Given the description of an element on the screen output the (x, y) to click on. 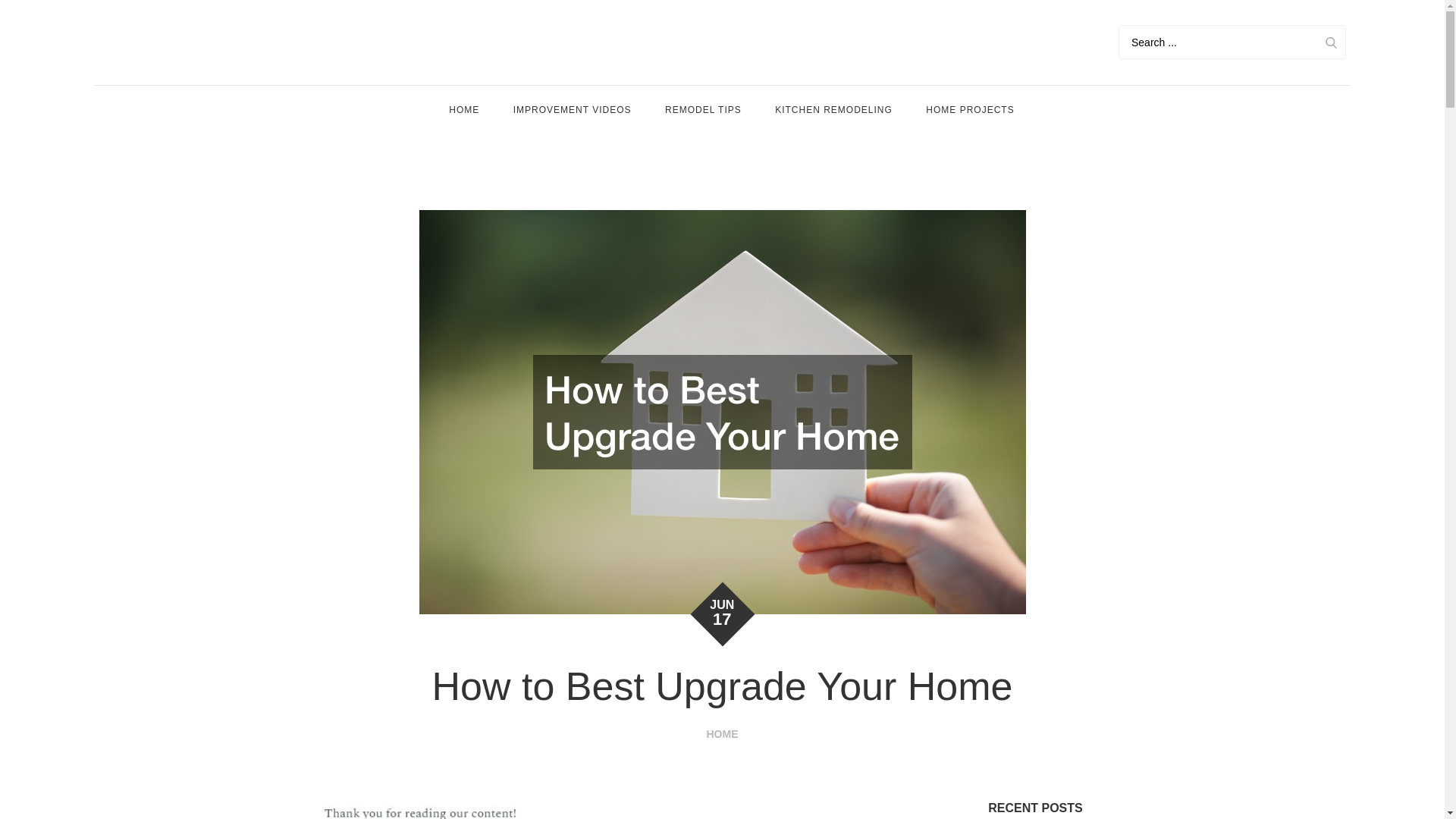
HOME (464, 109)
IMPROVEMENT VIDEOS (571, 109)
HOME PROJECTS (970, 109)
Search (1330, 41)
REMODEL TIPS (703, 109)
HOME (722, 734)
KITCHEN REMODELING (833, 109)
Search for: (1231, 41)
